Given the description of an element on the screen output the (x, y) to click on. 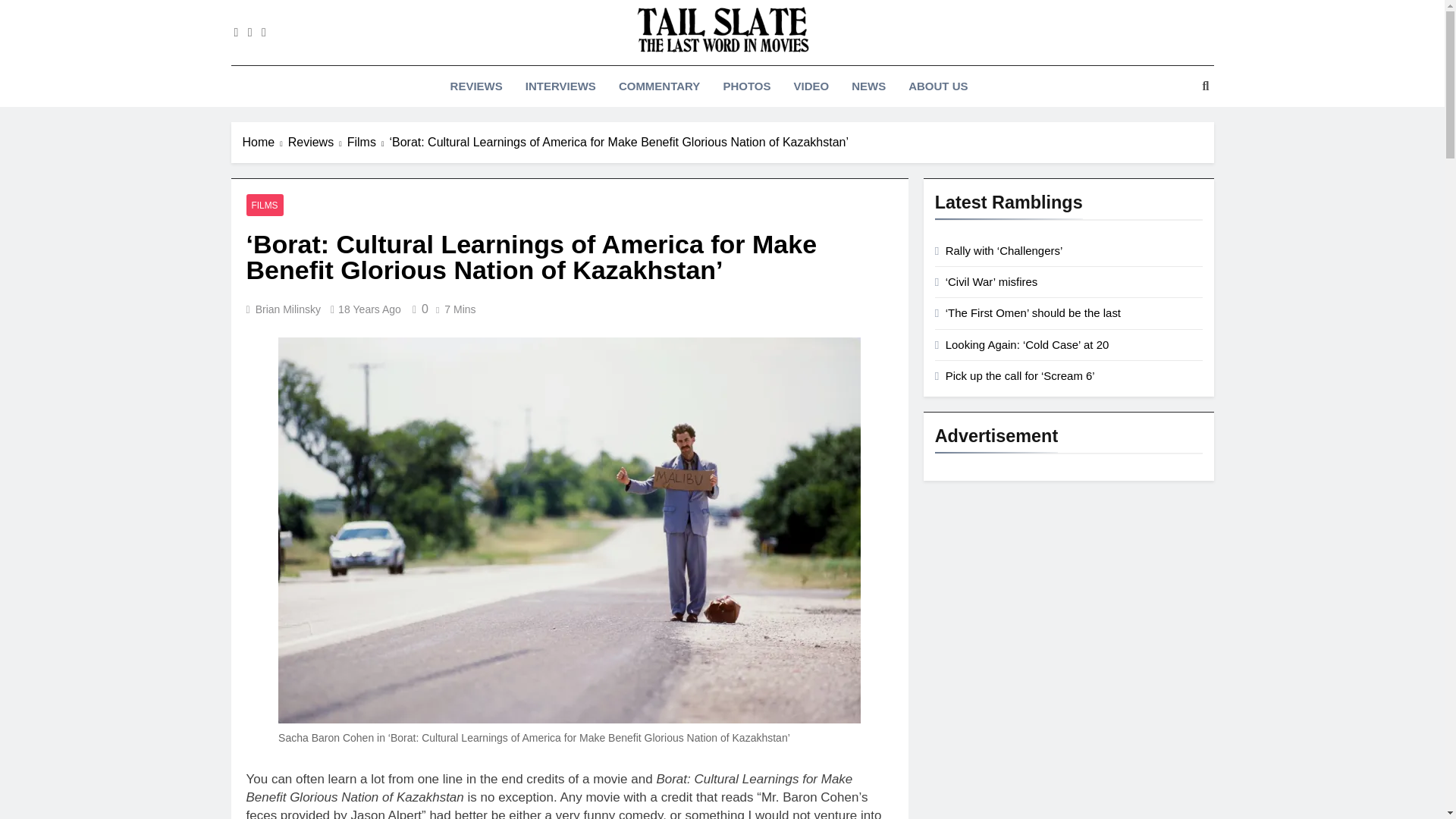
NEWS (868, 86)
VIDEO (810, 86)
Tail Slate (548, 77)
Home (265, 142)
FILMS (264, 205)
ABOUT US (937, 86)
COMMENTARY (659, 86)
INTERVIEWS (560, 86)
Brian Milinsky (288, 309)
Reviews (317, 142)
REVIEWS (476, 86)
18 Years Ago (369, 309)
0 (417, 308)
Films (368, 142)
PHOTOS (746, 86)
